Given the description of an element on the screen output the (x, y) to click on. 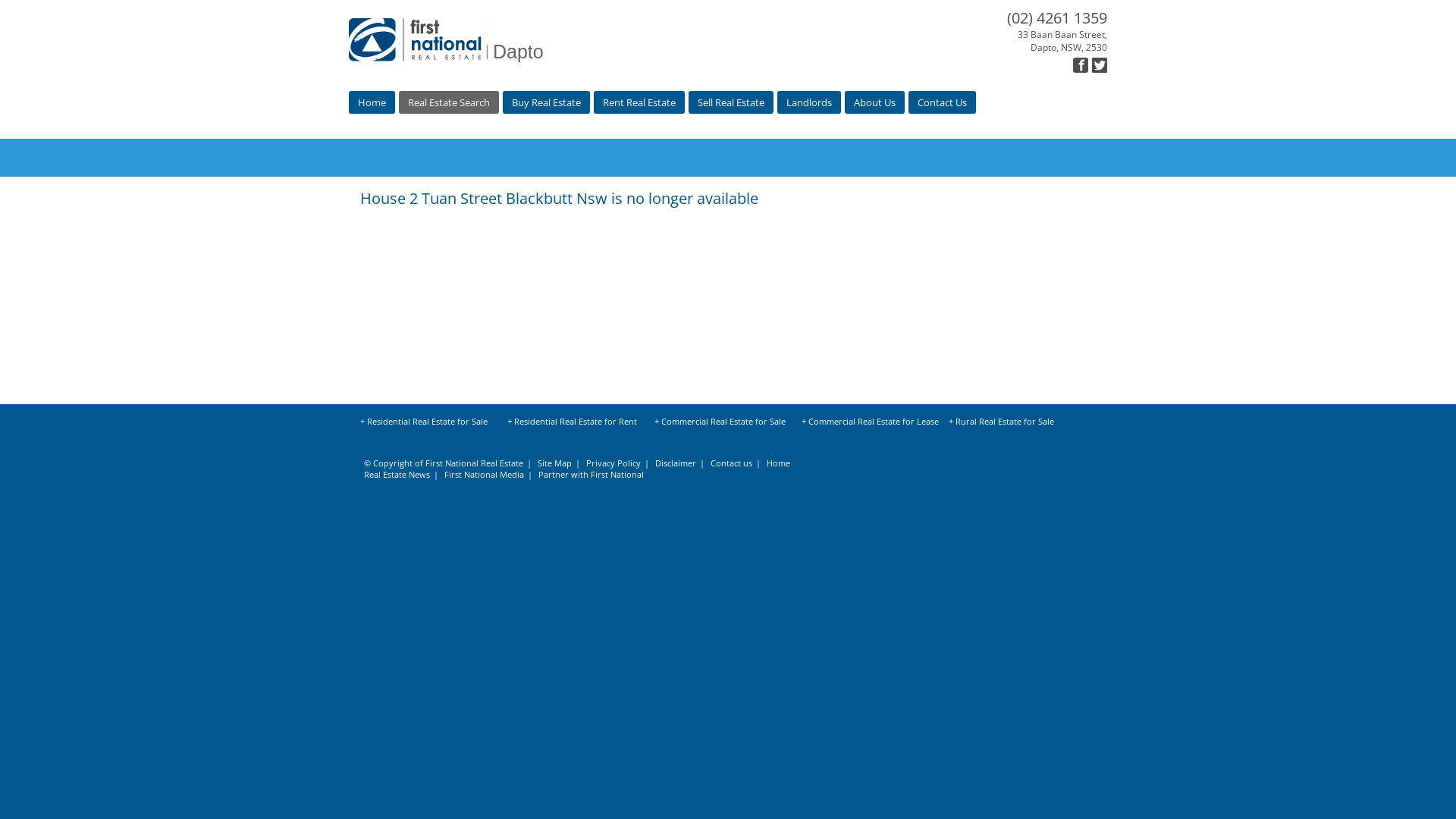
+ Residential Real Estate for Rent Element type: text (576, 422)
+ Residential Real Estate for Sale Element type: text (429, 422)
Home Element type: text (781, 462)
+ Commercial Real Estate for Lease Element type: text (871, 422)
Facebook Element type: text (1080, 64)
Buy Real Estate Element type: text (545, 102)
Privacy Policy Element type: text (619, 462)
Contact Us Element type: text (941, 102)
Disclaimer Element type: text (681, 462)
+ Rural Real Estate for Sale Element type: text (1018, 422)
Dapto Element type: text (530, 39)
Sell Real Estate Element type: text (730, 102)
Real Estate News Element type: text (403, 474)
Home Element type: text (371, 102)
About Us Element type: text (874, 102)
Partner with First National Element type: text (594, 474)
Site Map Element type: text (560, 462)
Twitter Element type: text (1099, 64)
Real Estate Search Element type: text (448, 102)
First National Media Element type: text (490, 474)
Contact us Element type: text (737, 462)
+ Commercial Real Estate for Sale Element type: text (723, 422)
Rent Real Estate Element type: text (638, 102)
Landlords Element type: text (808, 102)
